Given the description of an element on the screen output the (x, y) to click on. 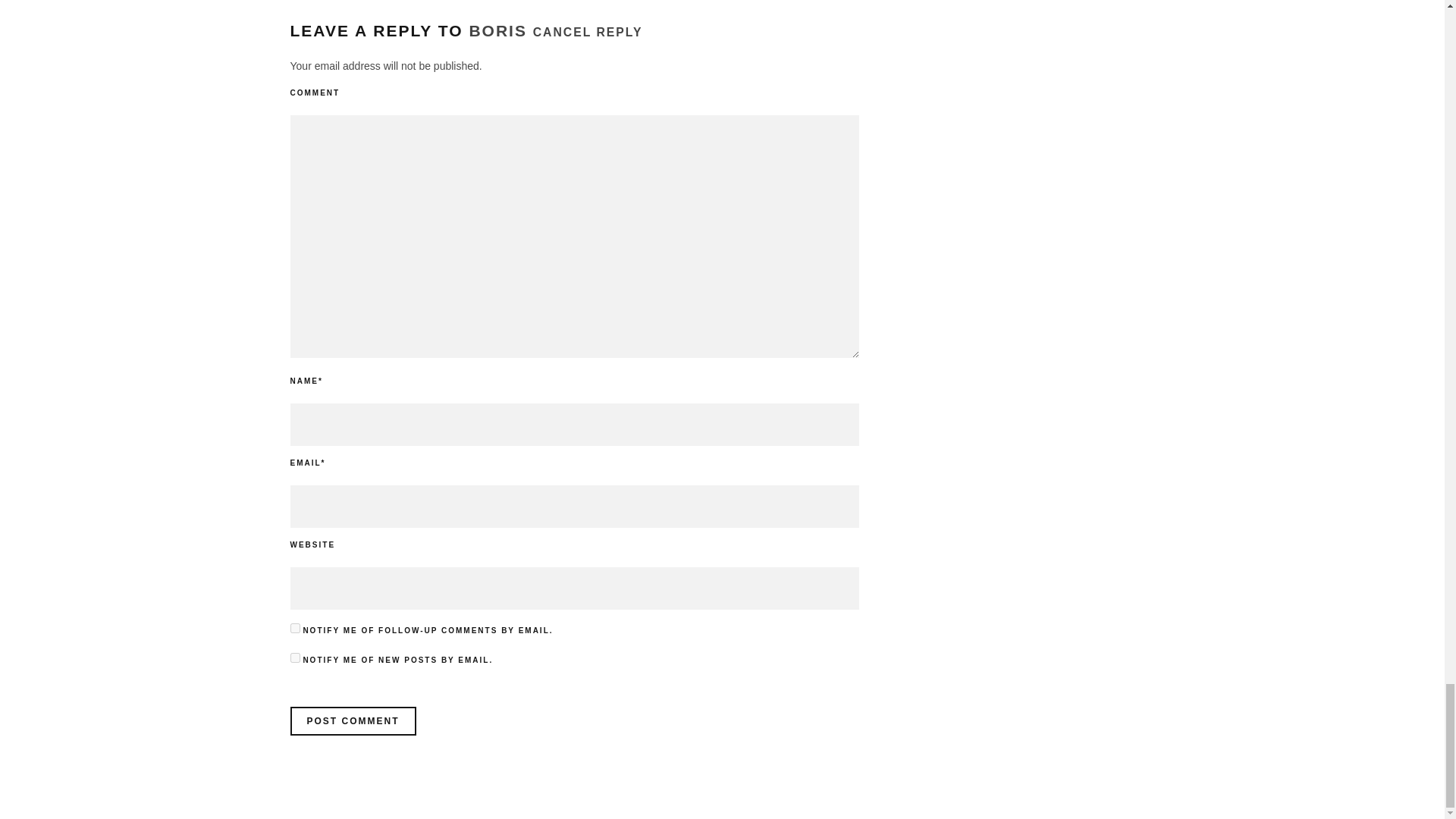
subscribe (294, 657)
subscribe (294, 628)
Post Comment (351, 720)
